Given the description of an element on the screen output the (x, y) to click on. 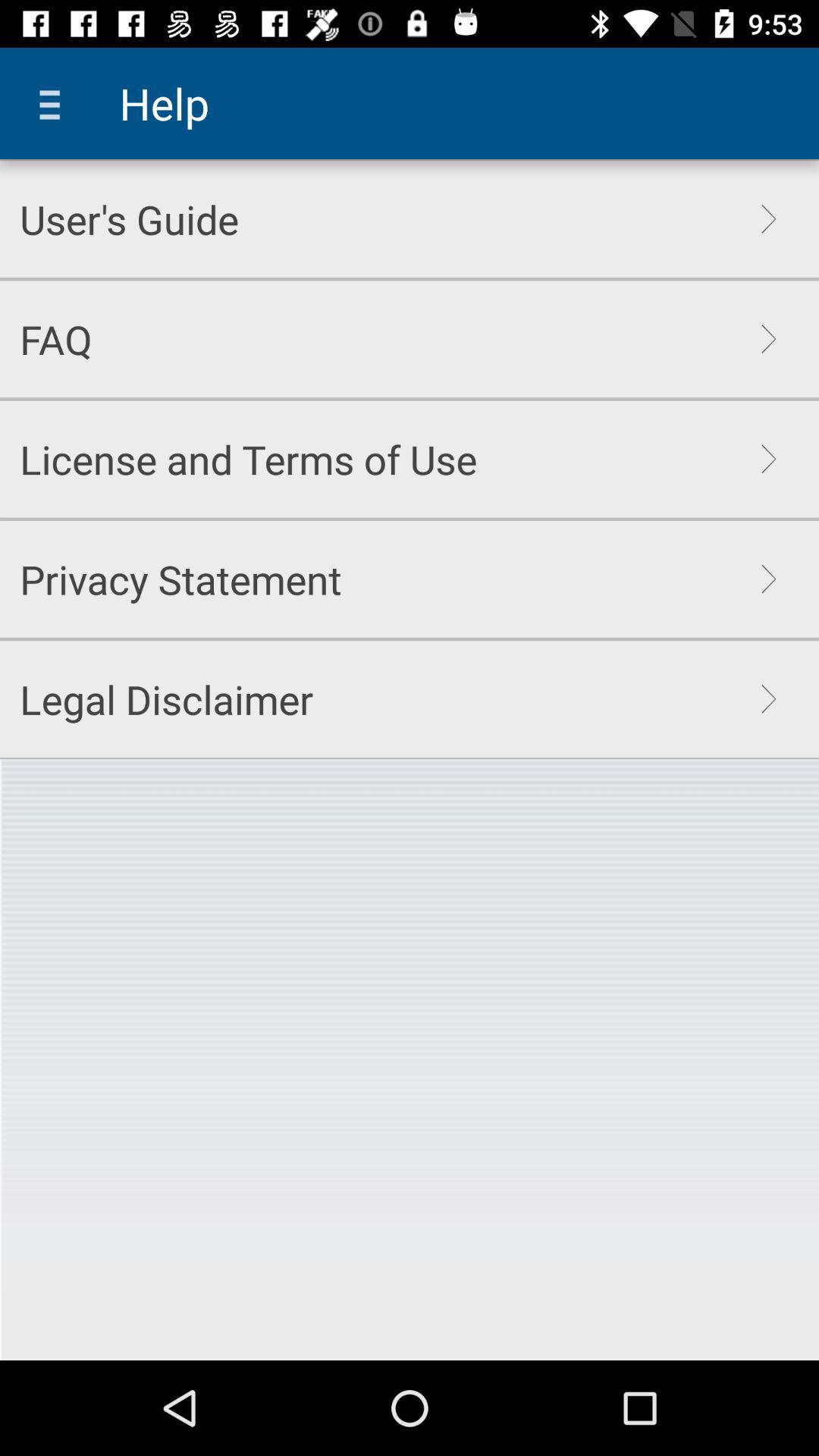
select license and terms item (248, 458)
